Given the description of an element on the screen output the (x, y) to click on. 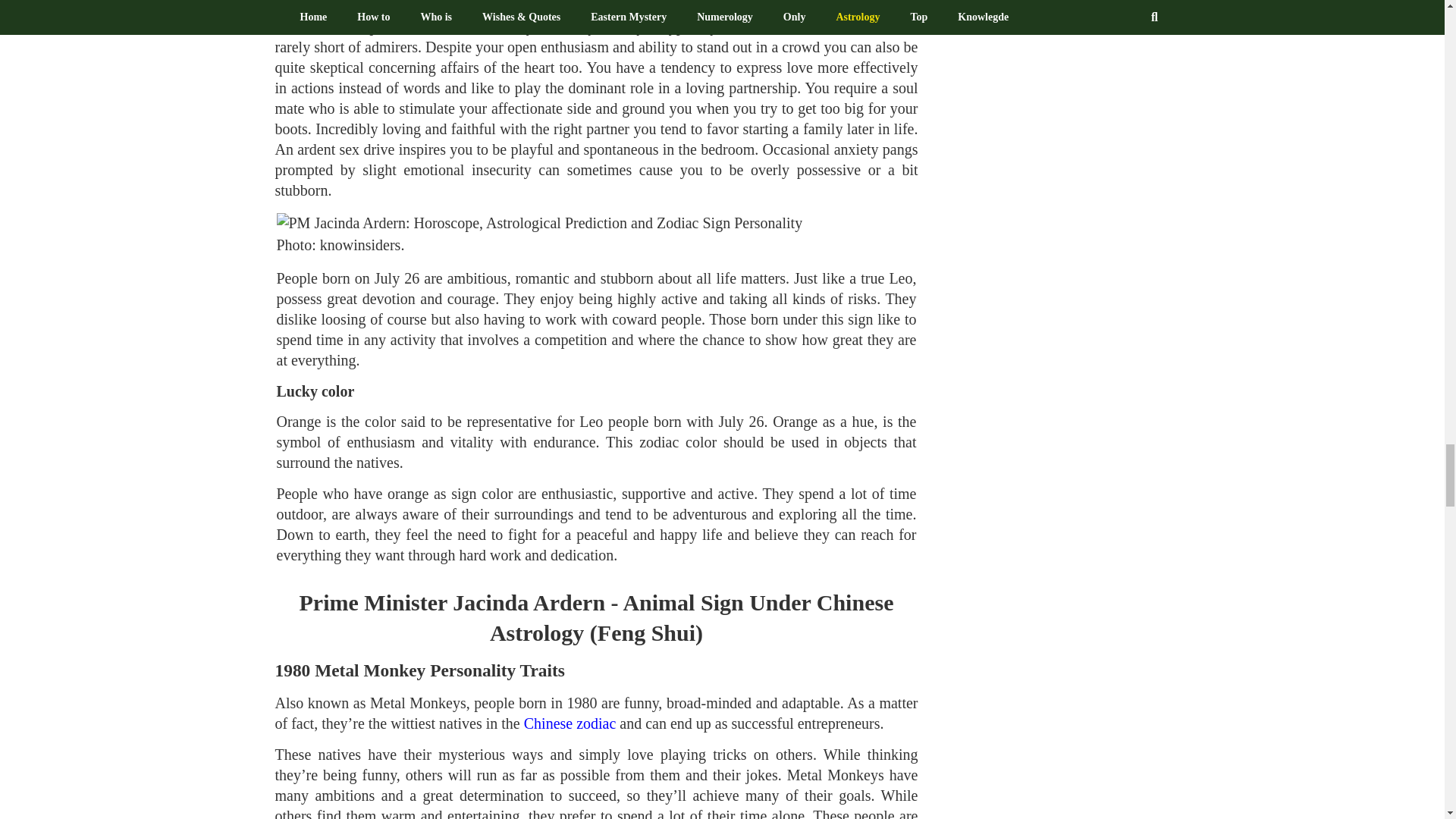
Chinese zodiac (569, 723)
